Given the description of an element on the screen output the (x, y) to click on. 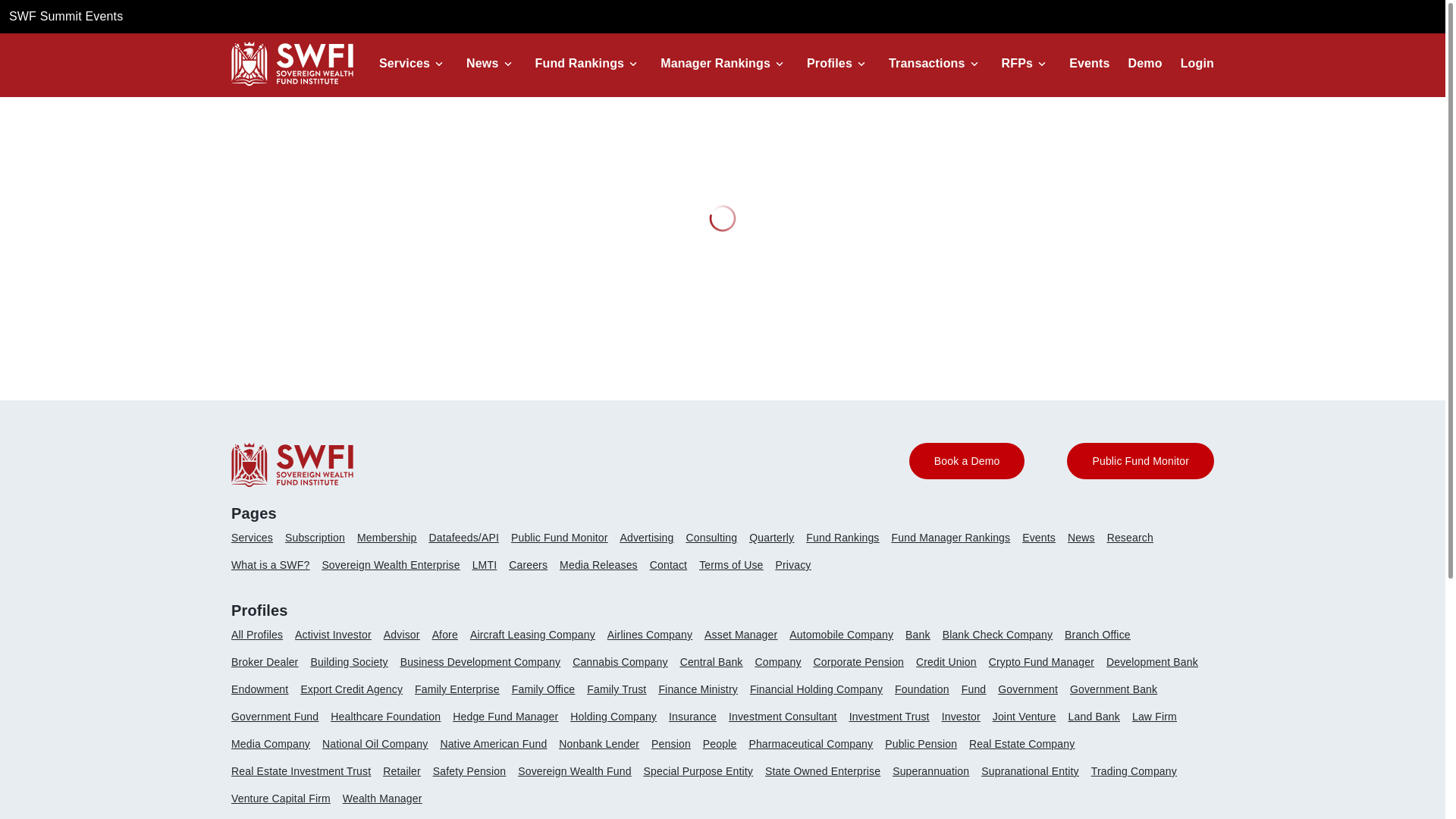
News (481, 63)
Fund Rankings (579, 63)
Services (403, 63)
SWF Summit Events (65, 15)
Manager Rankings (715, 63)
